Given the description of an element on the screen output the (x, y) to click on. 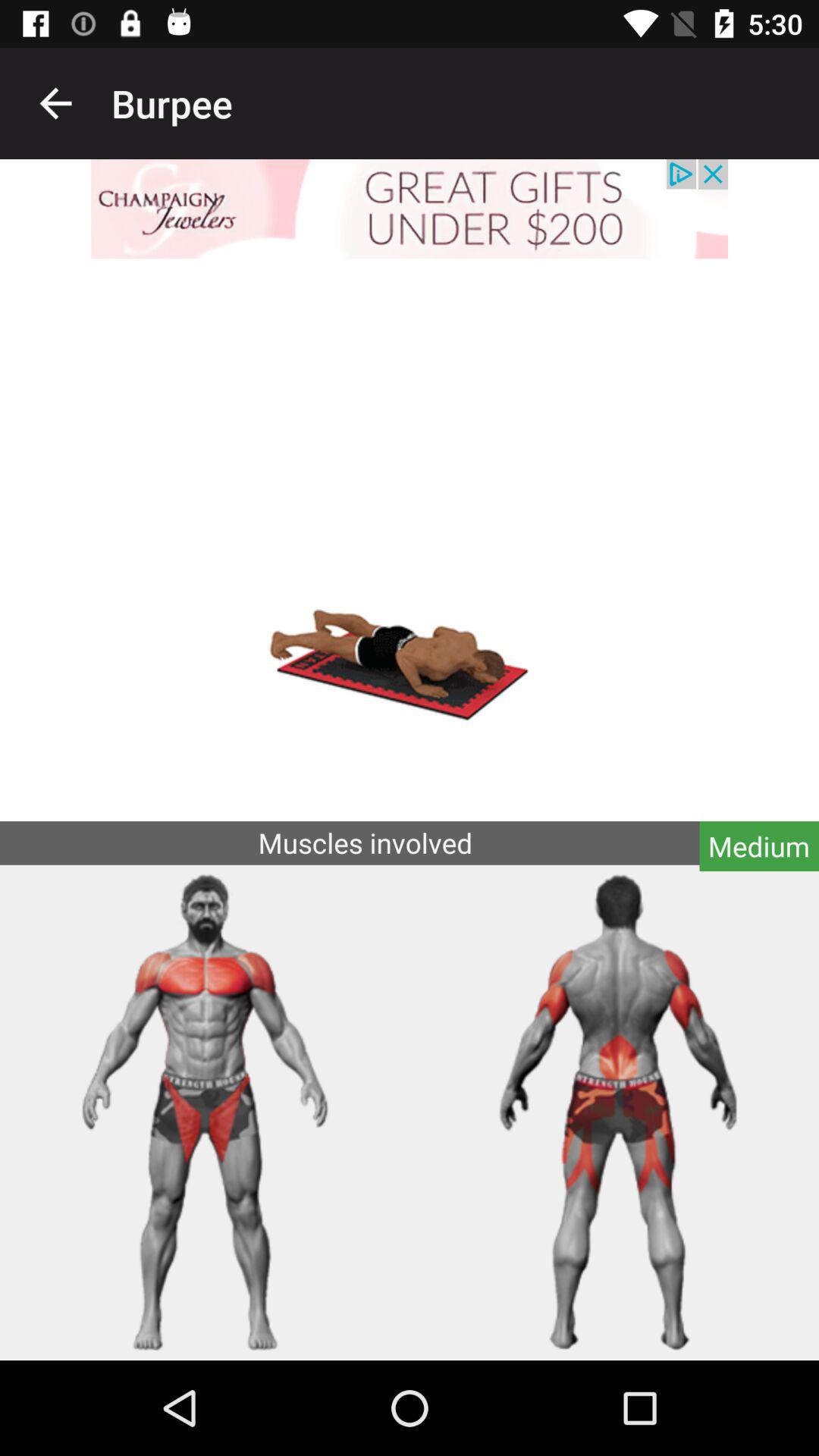
add icone (409, 208)
